Given the description of an element on the screen output the (x, y) to click on. 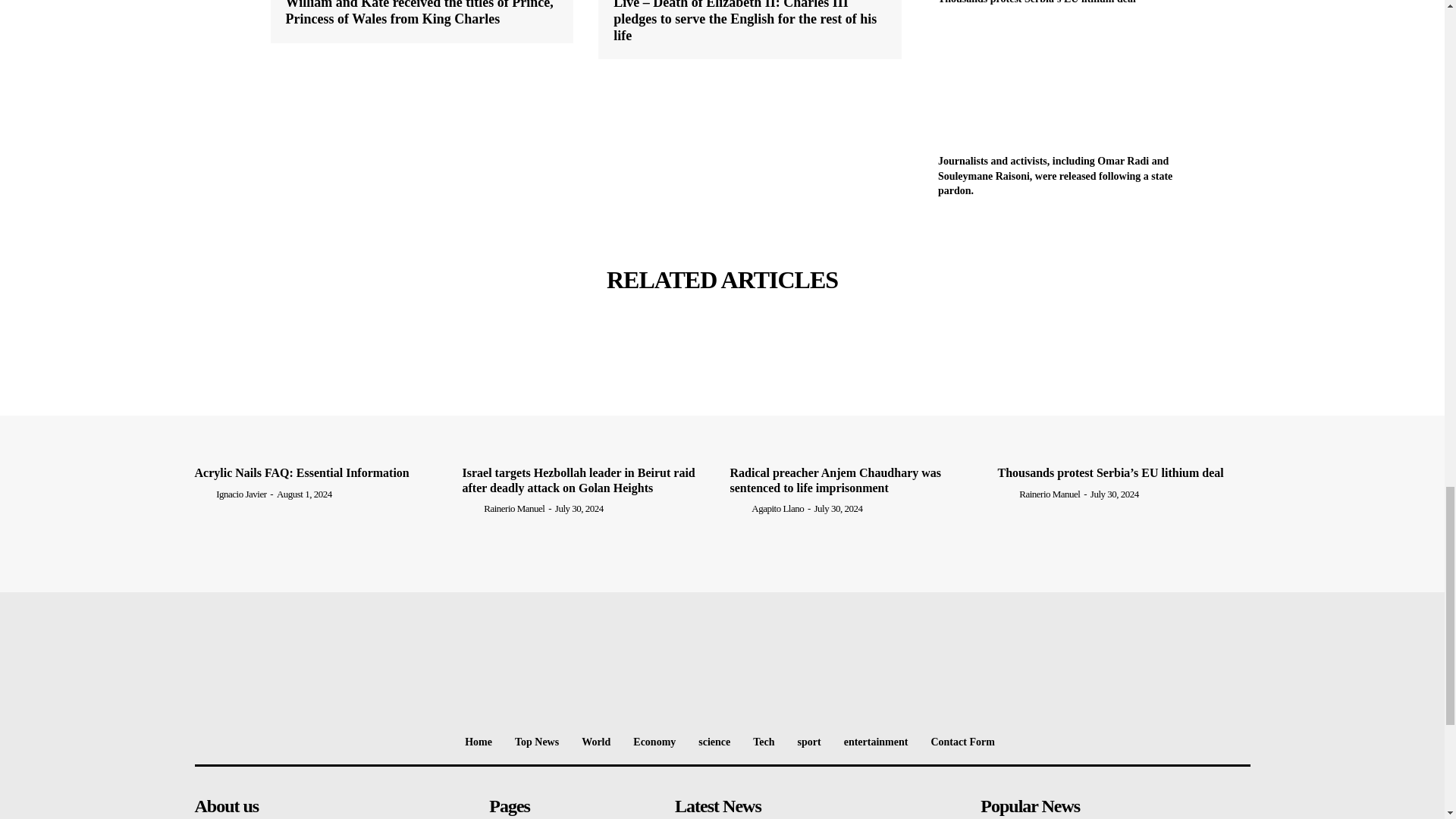
Acrylic Nails FAQ: Essential Information (319, 393)
